Given the description of an element on the screen output the (x, y) to click on. 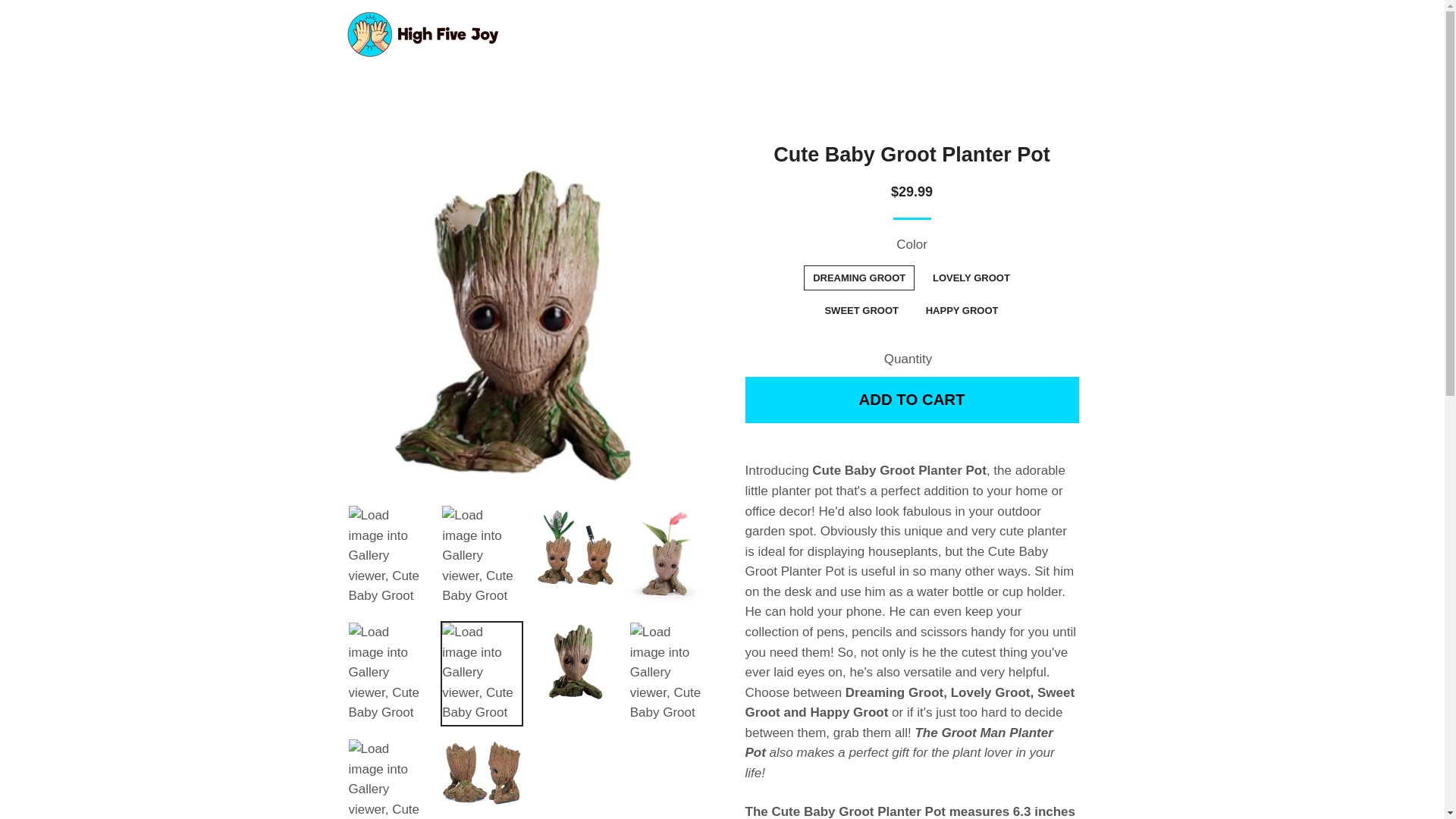
ADD TO CART (911, 399)
